Given the description of an element on the screen output the (x, y) to click on. 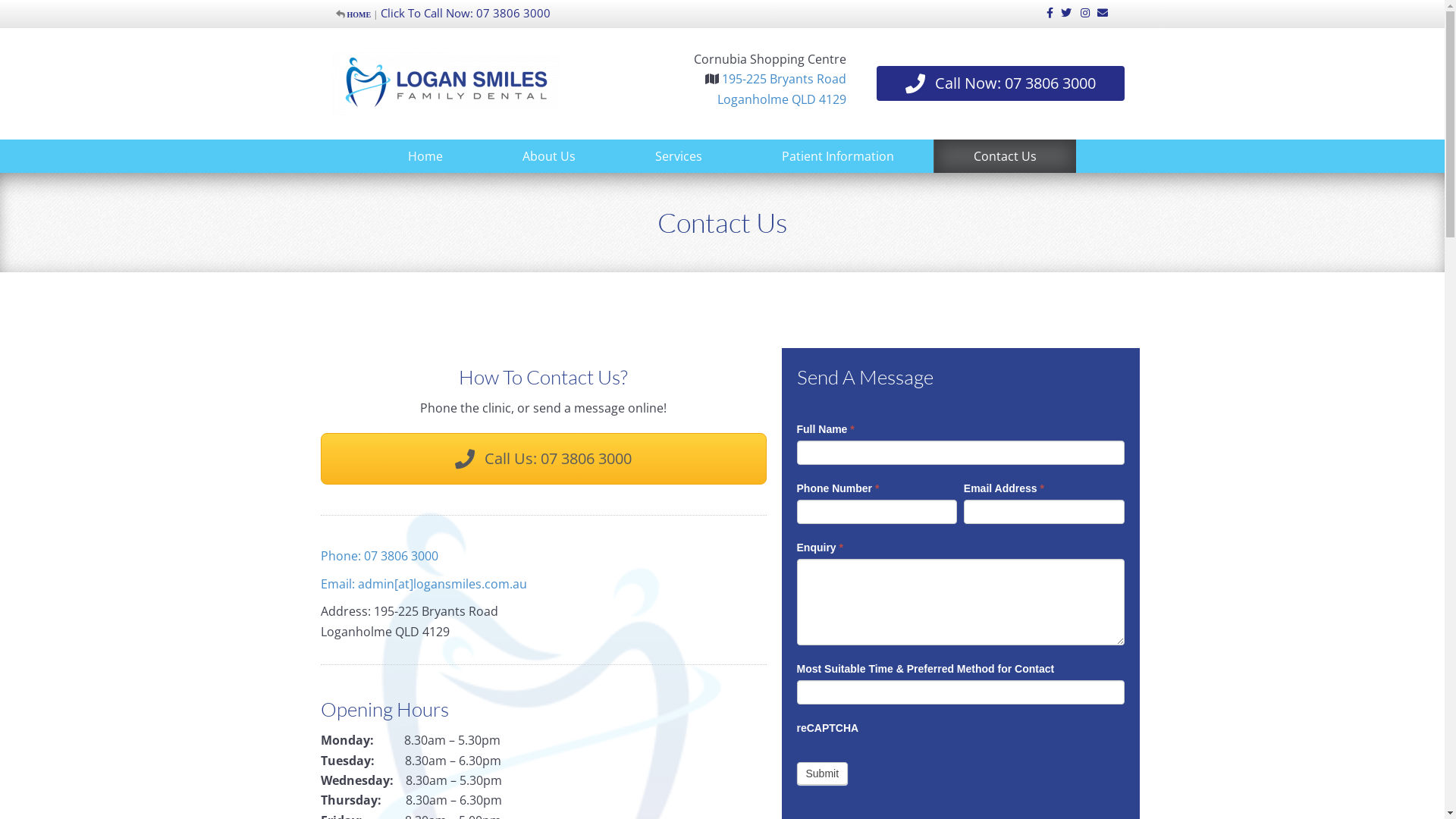
Email Element type: text (1097, 11)
Contact Us Element type: text (1005, 155)
Click To Call Now: 07 3806 3000 Element type: text (465, 12)
 195-225 Bryants Road
Loganholme QLD 4129 Element type: text (781, 88)
Phone: 07 3806 3000 Element type: text (378, 555)
Instagram Element type: text (1079, 11)
Twitter Element type: text (1061, 11)
Home Element type: text (425, 155)
Logan Smiles Family Dental Logo Element type: hover (445, 83)
Submit Element type: text (821, 773)
Services Element type: text (678, 155)
Patient Information Element type: text (837, 155)
Email: admin[at]logansmiles.com.au Element type: text (423, 583)
How To Contact Us? Element type: text (542, 376)
Facebook Element type: text (1043, 11)
Call Us: 07 3806 3000 Element type: text (542, 458)
Call Now: 07 3806 3000 Element type: text (1000, 82)
About Us Element type: text (548, 155)
HOME Element type: text (359, 14)
